Given the description of an element on the screen output the (x, y) to click on. 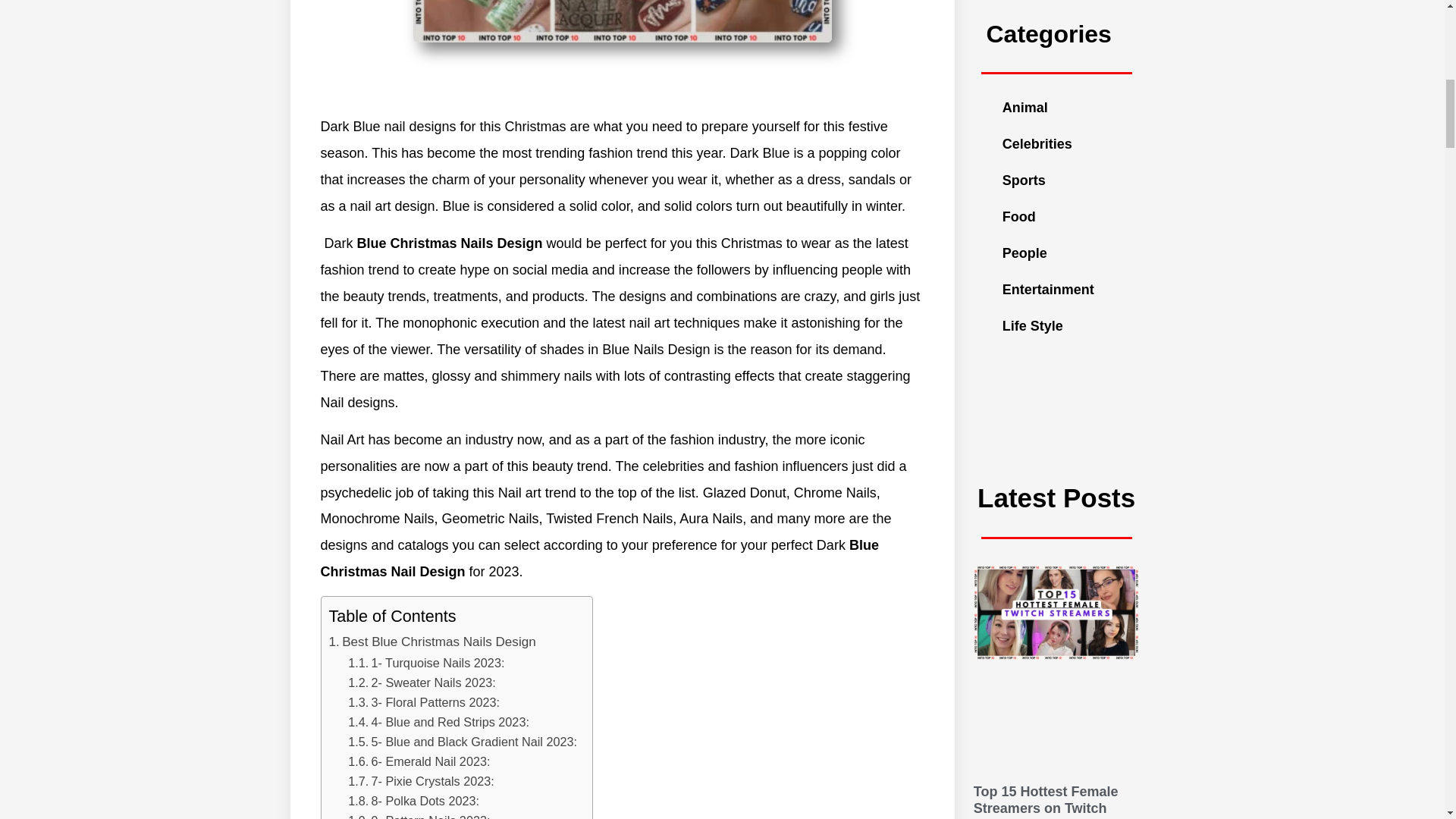
7- Pixie Crystals 2023: (432, 780)
6- Emerald Nail 2023: (430, 761)
5- Blue and Black Gradient Nail 2023: (473, 741)
9- Pattern Nails 2023: (430, 816)
8- Polka Dots 2023: (425, 800)
Best Blue Christmas Nails Design  (438, 641)
1- Turquoise Nails 2023: (437, 662)
3- Floral Patterns 2023: (435, 702)
4- Blue and Red Strips 2023: (449, 721)
2- Sweater Nails 2023: (433, 682)
